Given the description of an element on the screen output the (x, y) to click on. 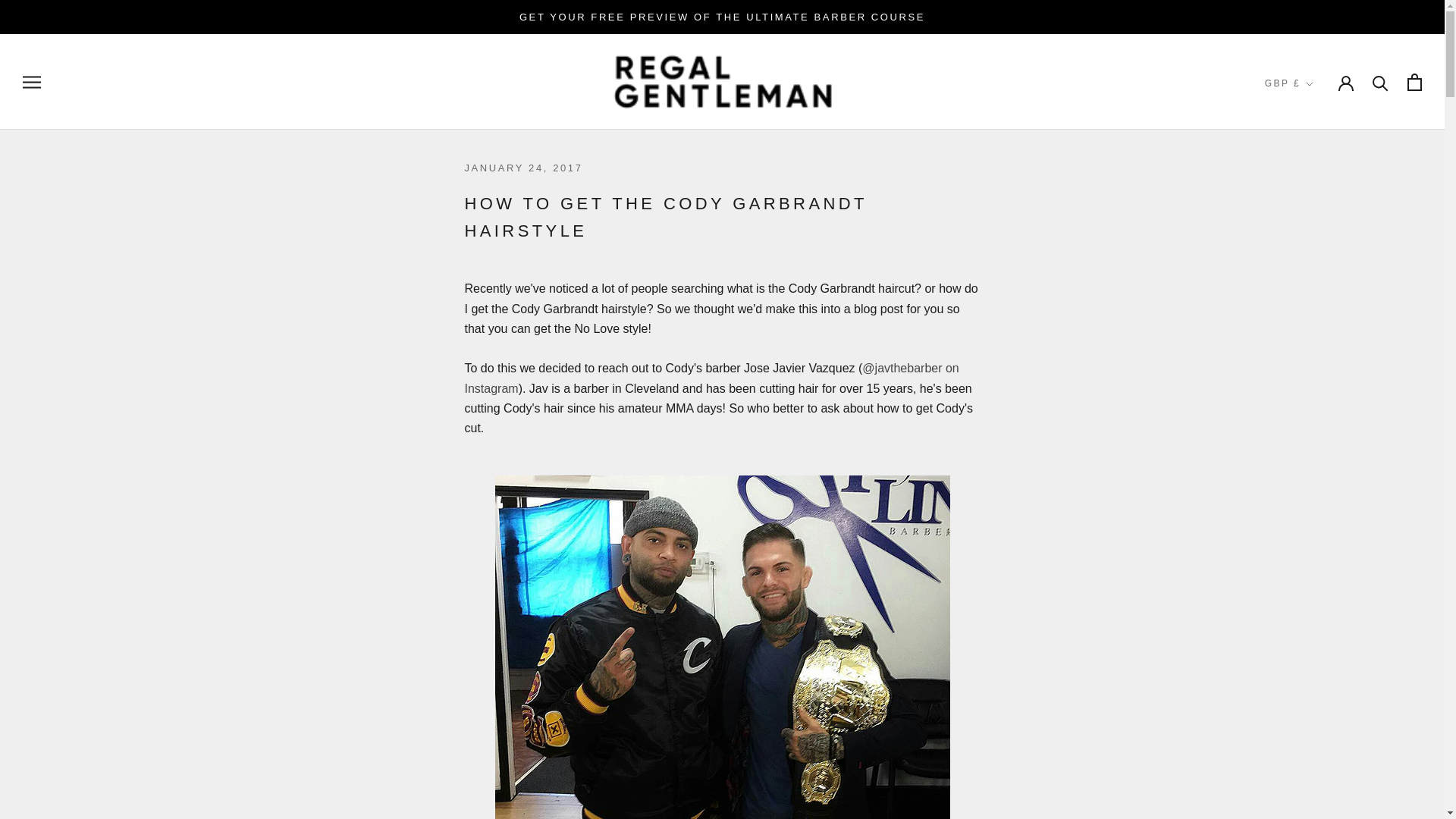
BAM (1317, 298)
BZD (1317, 501)
AUD (1317, 231)
CAD (1317, 524)
BGN (1317, 366)
AMD (1317, 185)
GET YOUR FREE PREVIEW OF THE ULTIMATE BARBER COURSE (721, 16)
AFN (1317, 140)
BSD (1317, 456)
AWG (1317, 253)
AED (1317, 118)
BWP (1317, 479)
BDT (1317, 343)
BIF (1317, 388)
ALL (1317, 162)
